Given the description of an element on the screen output the (x, y) to click on. 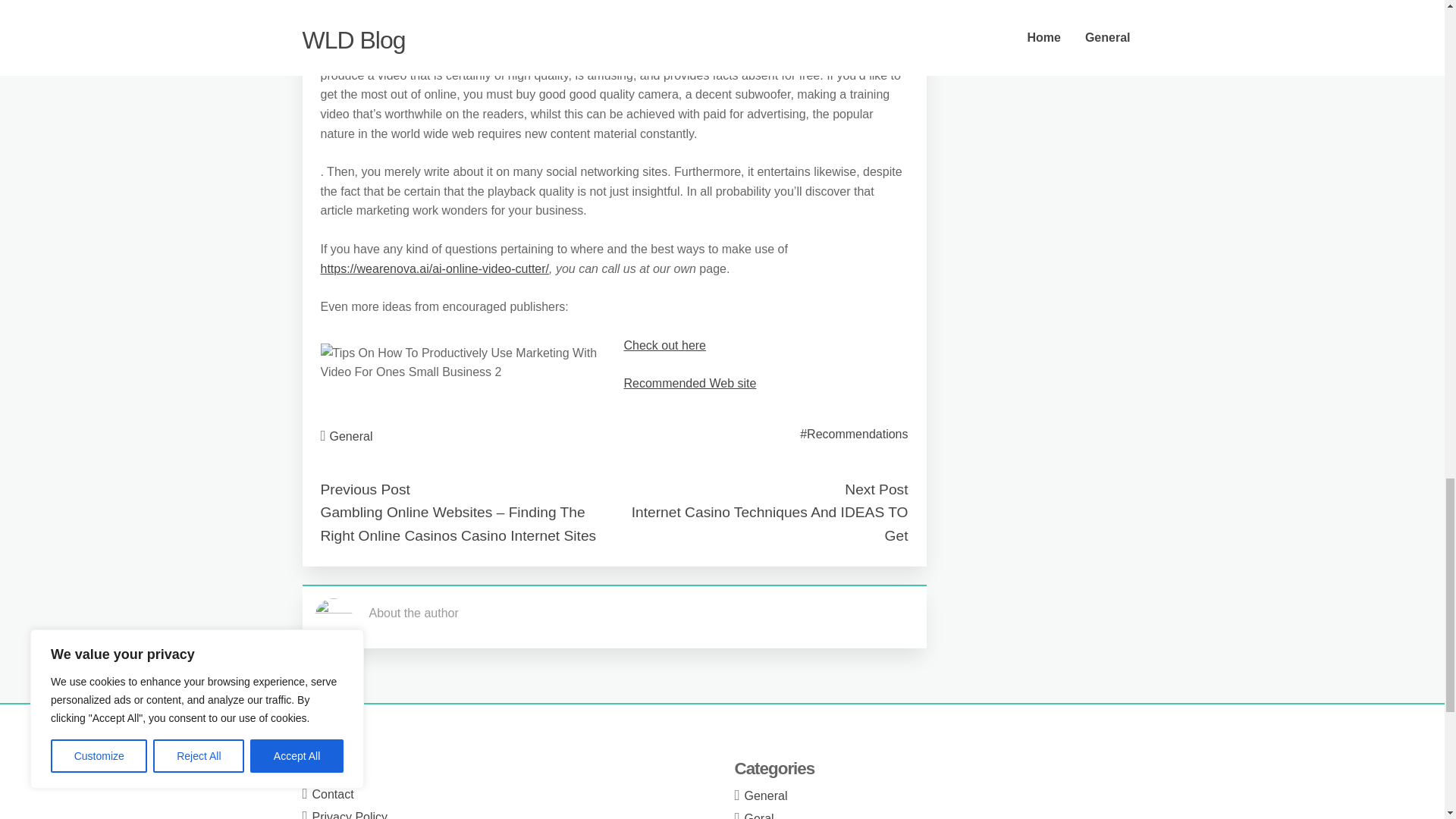
General (351, 436)
About (328, 770)
Contact (333, 793)
Geral (759, 815)
Recommended Web site (689, 382)
Internet Casino Techniques And IDEAS TO Get (769, 523)
Previous Post (364, 489)
General (765, 795)
Privacy Policy (350, 814)
Next Post (875, 489)
